Given the description of an element on the screen output the (x, y) to click on. 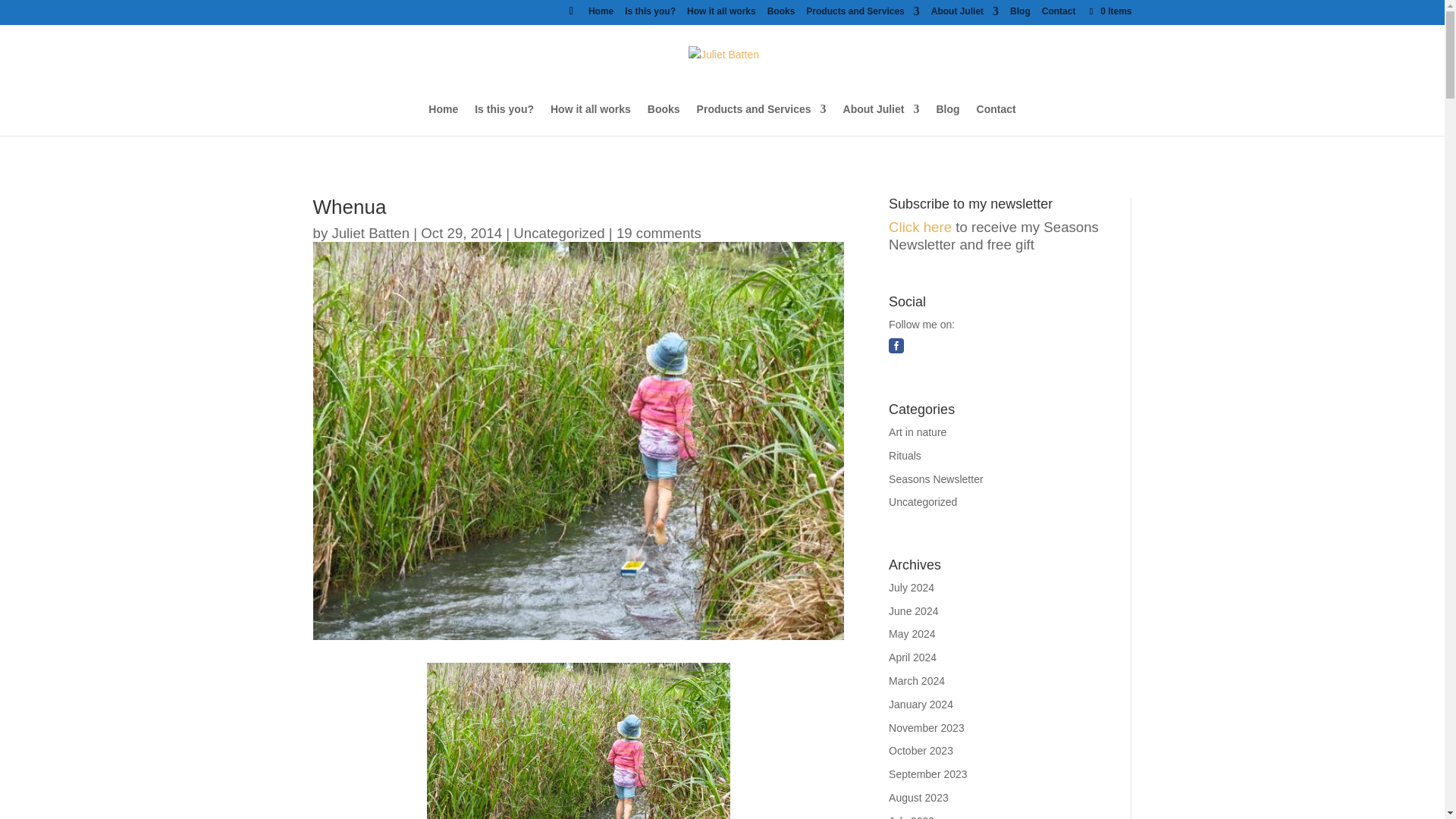
Blog (947, 119)
How it all works (721, 14)
About Juliet (881, 119)
Products and Services (862, 14)
Posts by Juliet Batten (370, 232)
Books (663, 119)
Contact (1058, 14)
About Juliet (964, 14)
Home (443, 119)
Is this you? (649, 14)
How it all works (590, 119)
Contact (996, 119)
Home (600, 14)
Books (780, 14)
Blog (1020, 14)
